Given the description of an element on the screen output the (x, y) to click on. 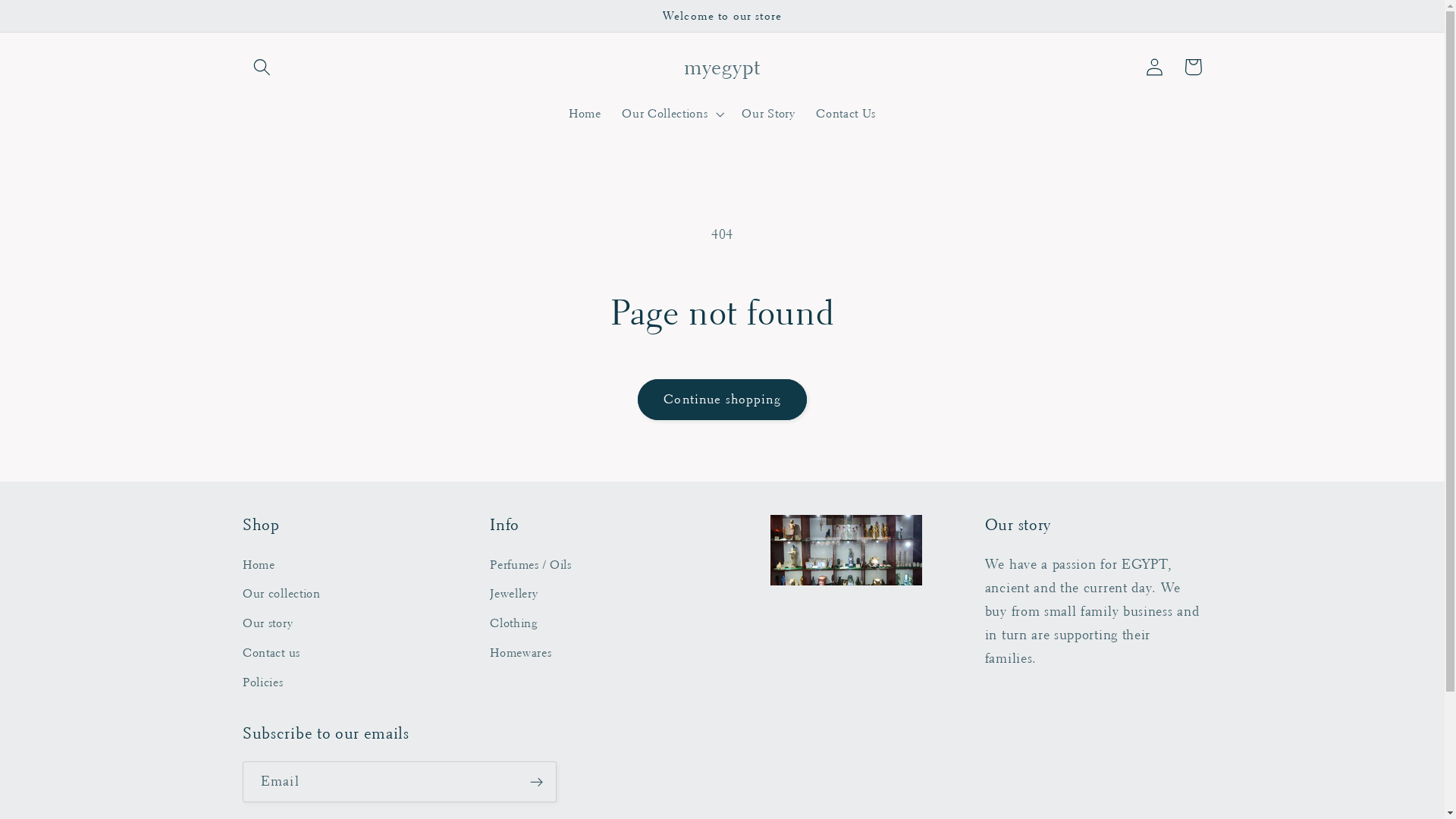
Home Element type: text (584, 113)
Continue shopping Element type: text (722, 399)
Our collection Element type: text (281, 594)
Homewares Element type: text (520, 653)
Our story Element type: text (267, 623)
Our Story Element type: text (768, 113)
Log in Element type: text (1154, 66)
Policies Element type: text (262, 682)
Perfumes / Oils Element type: text (530, 567)
myegypt Element type: text (721, 67)
Jewellery Element type: text (513, 594)
Clothing Element type: text (513, 623)
Cart Element type: text (1192, 66)
Contact Us Element type: text (845, 113)
Home Element type: text (258, 567)
Contact us Element type: text (271, 653)
